Given the description of an element on the screen output the (x, y) to click on. 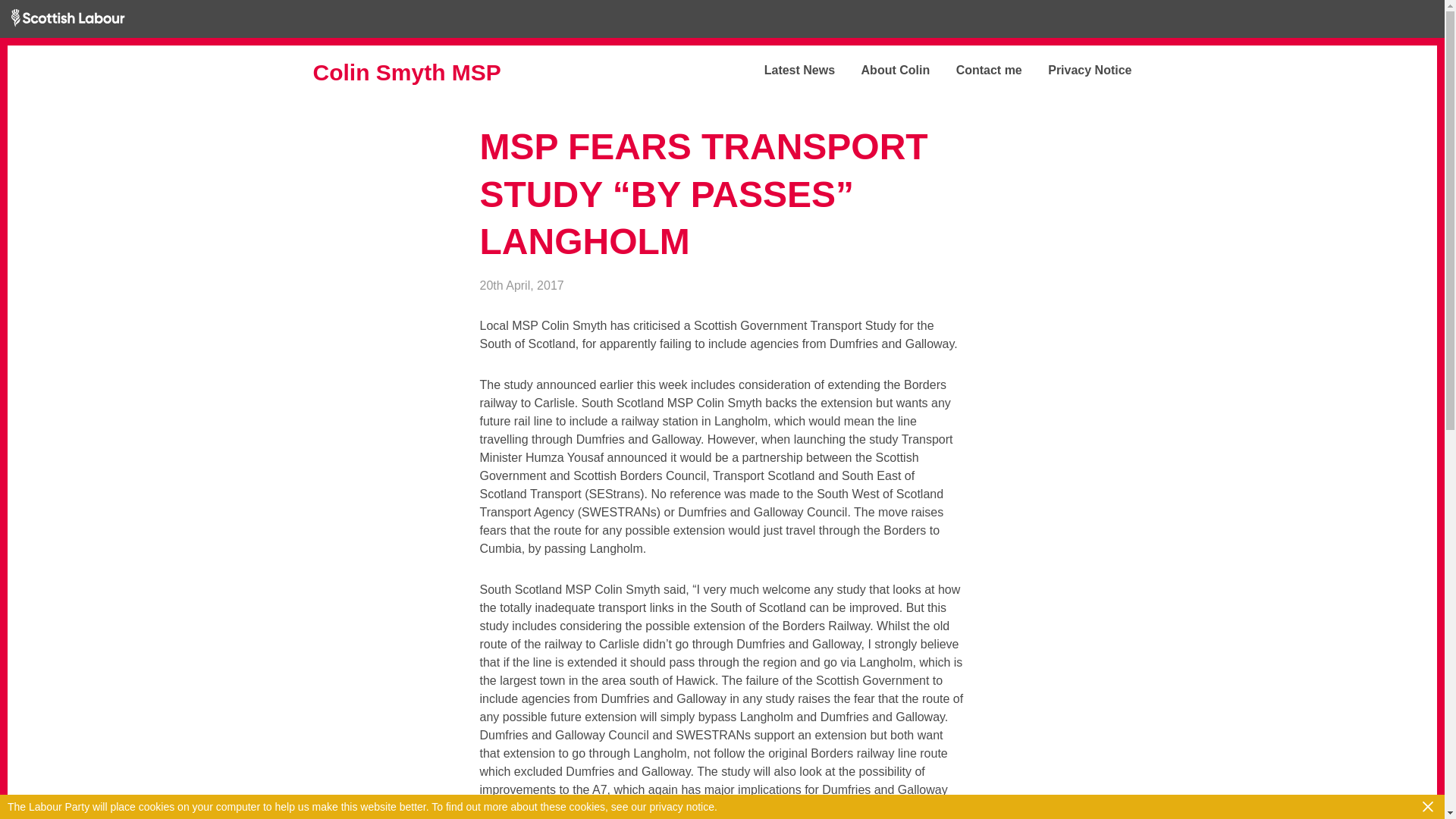
Colin Smyth MSP (426, 73)
Privacy Notice (1078, 69)
About Colin (884, 69)
Contact me (977, 69)
Latest News (787, 69)
